Given the description of an element on the screen output the (x, y) to click on. 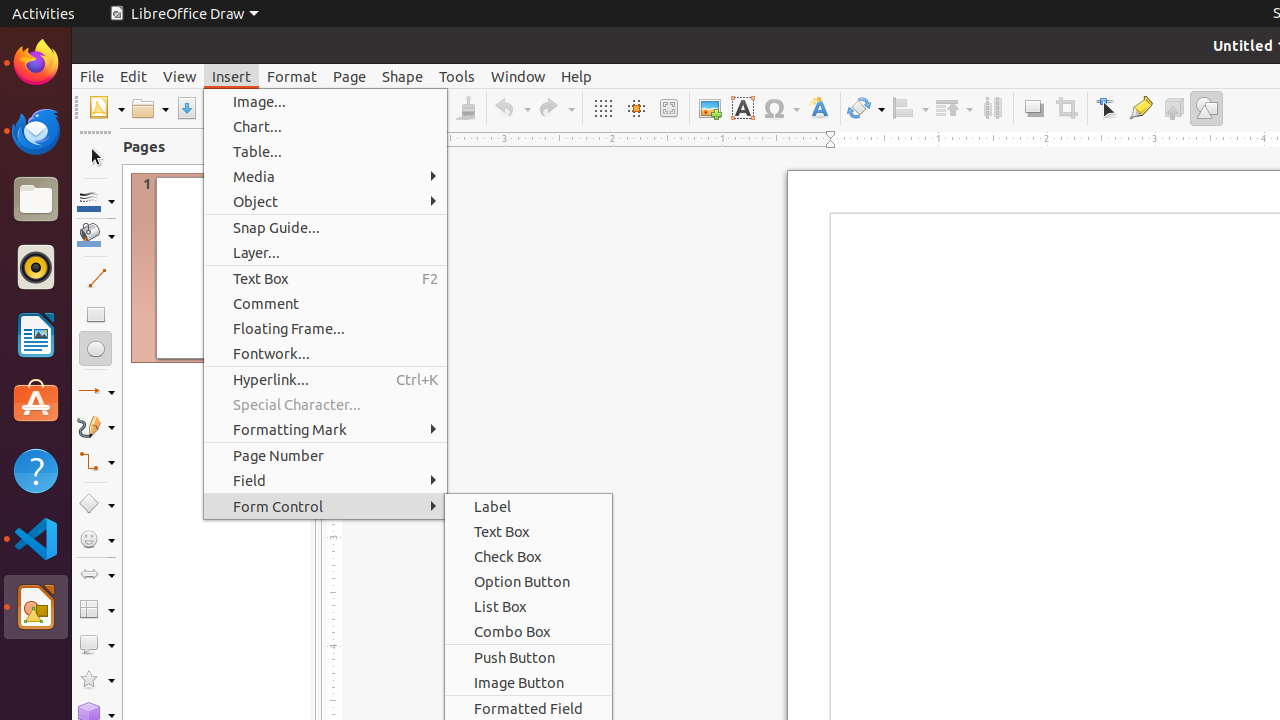
Edit Element type: menu (133, 76)
Special Character... Element type: menu-item (325, 404)
Files Element type: push-button (36, 199)
Text Box Element type: push-button (742, 108)
